Given the description of an element on the screen output the (x, y) to click on. 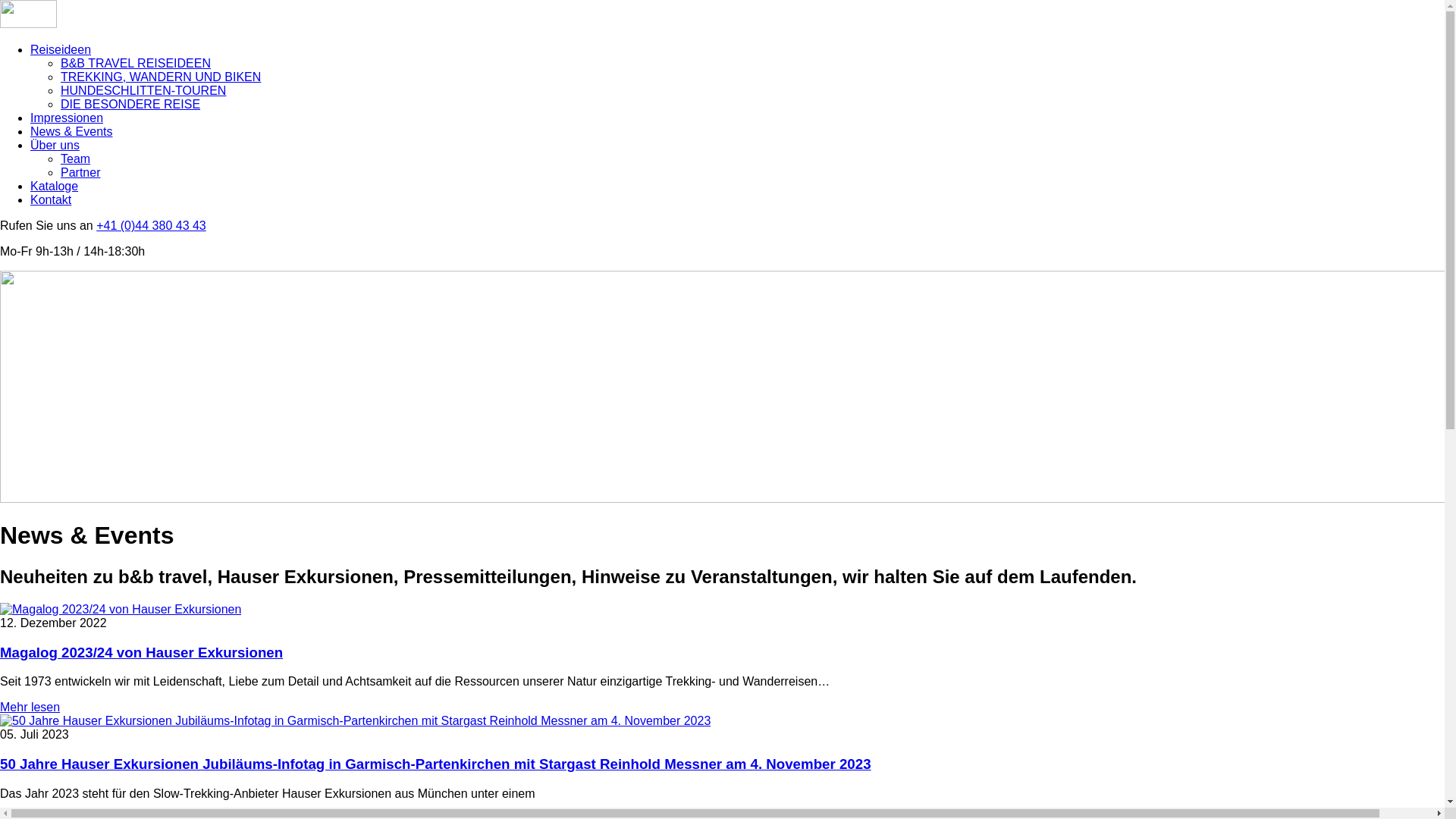
Team Element type: text (75, 158)
Kontakt Element type: text (50, 199)
Magalog 2023/24 von Hauser Exkursionen Element type: hover (120, 608)
DIE BESONDERE REISE Element type: text (130, 103)
Mehr lesen Element type: text (29, 706)
Kataloge Element type: text (54, 185)
News & Events Element type: text (71, 131)
TREKKING, WANDERN UND BIKEN Element type: text (160, 76)
B&B TRAVEL REISEIDEEN Element type: text (135, 62)
Reiseideen Element type: text (60, 49)
Magalog 2023/24 von Hauser Exkursionen Element type: hover (120, 609)
Partner Element type: text (80, 172)
Magalog 2023/24 von Hauser Exkursionen Element type: text (141, 652)
HUNDESCHLITTEN-TOUREN Element type: text (142, 90)
Impressionen Element type: text (66, 117)
+41 (0)44 380 43 43 Element type: text (151, 225)
